Given the description of an element on the screen output the (x, y) to click on. 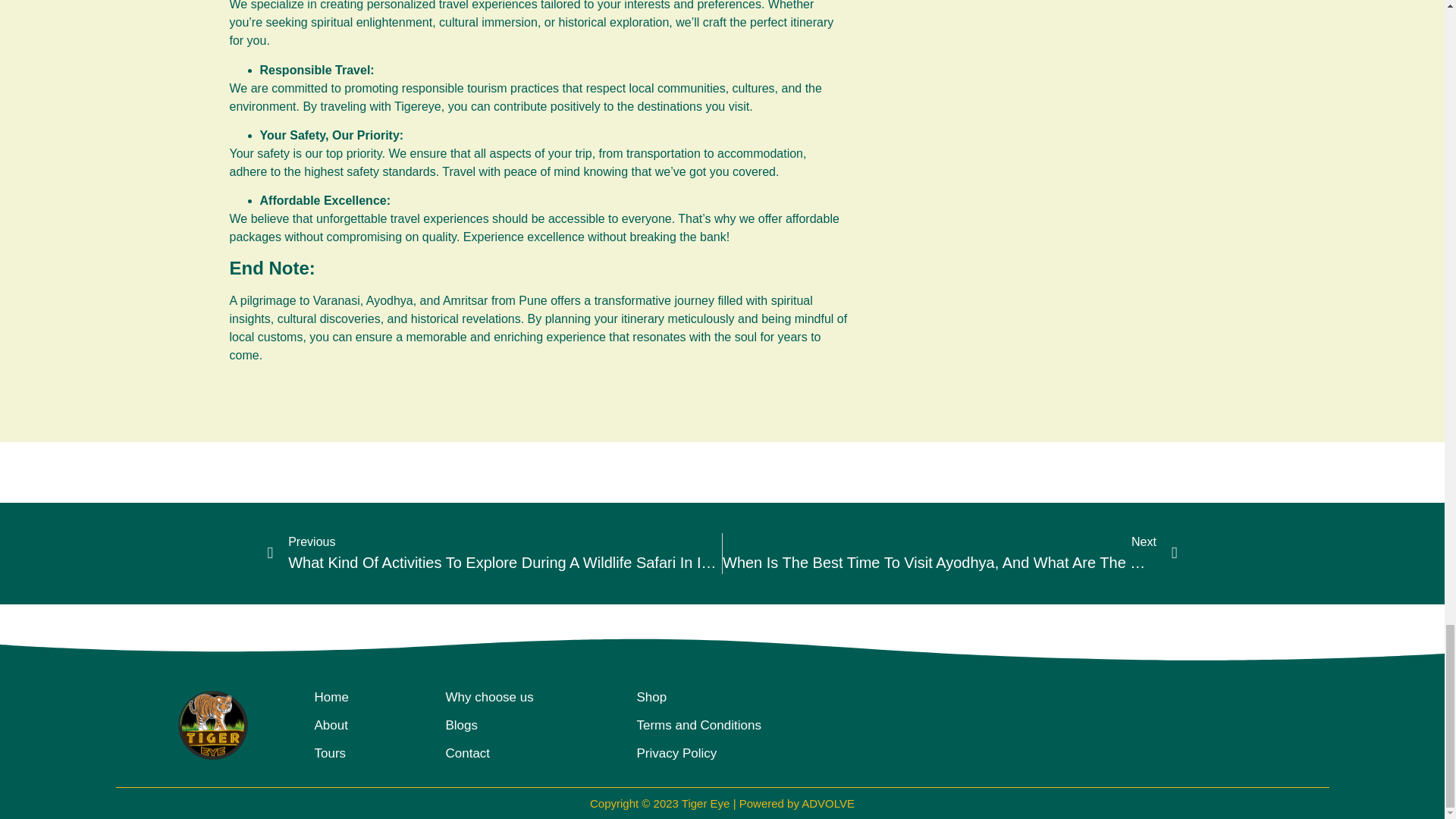
Tours (330, 753)
Privacy Policy (677, 753)
Why choose us (489, 697)
Blogs (462, 725)
About (330, 725)
Terms and Conditions (699, 725)
Contact (467, 753)
Home (330, 697)
